Given the description of an element on the screen output the (x, y) to click on. 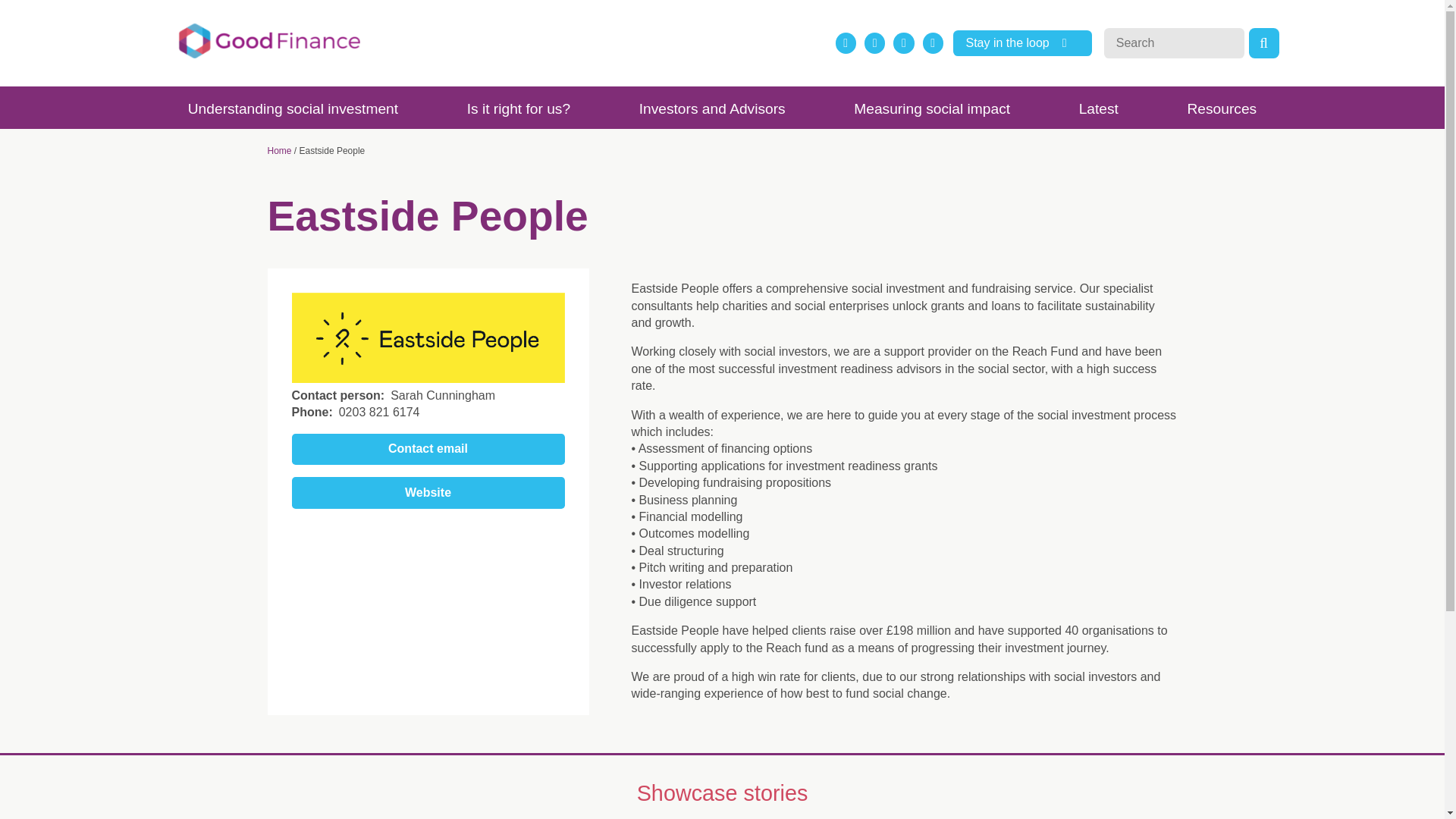
Contact email (427, 450)
Stay in the loop (1021, 43)
Is it right for us? (517, 108)
Understanding social investment (292, 108)
Home (278, 150)
Measuring social impact (932, 108)
Investors and Advisors (711, 108)
Resources (1221, 108)
Enter the terms you wish to search for. (1173, 42)
